Given the description of an element on the screen output the (x, y) to click on. 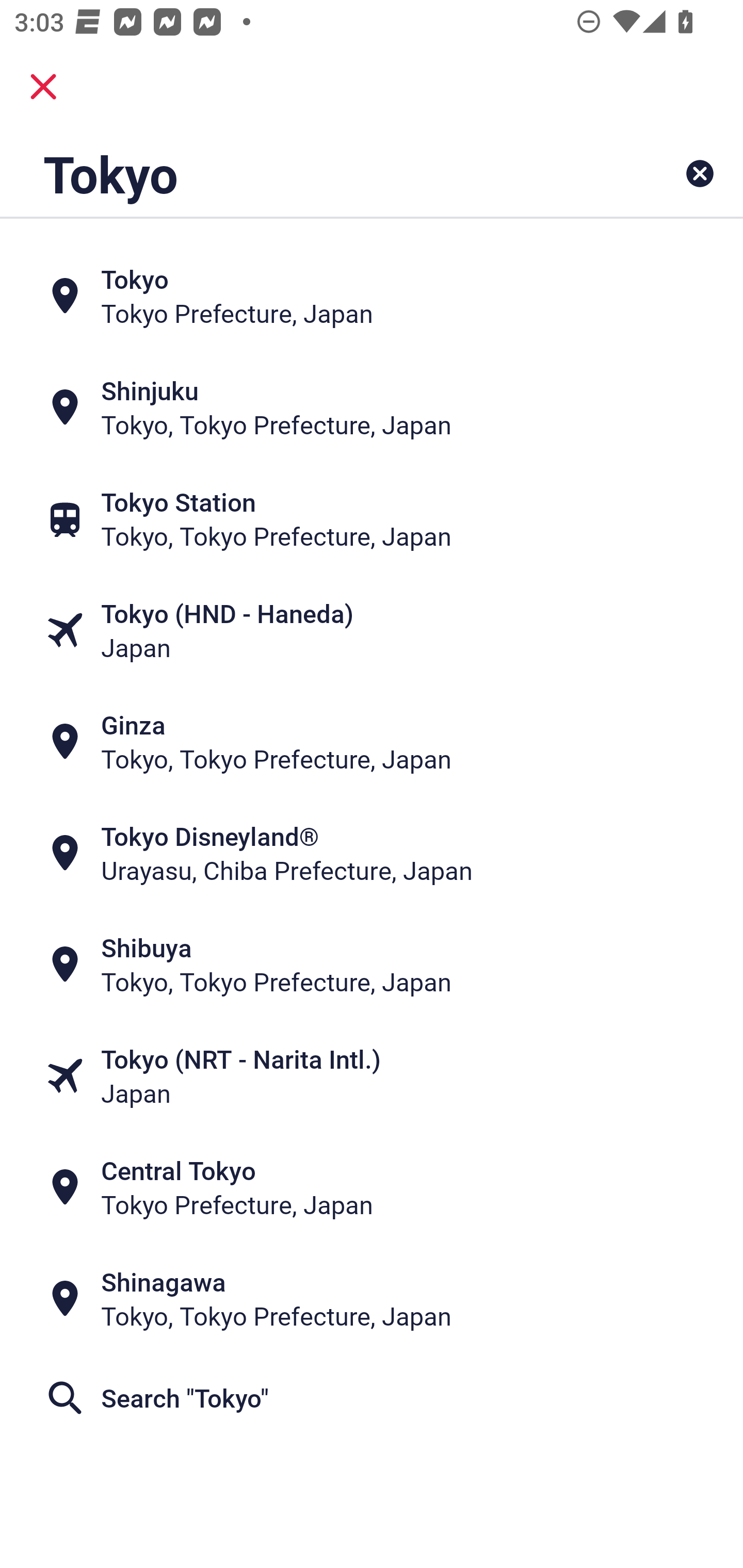
close. (43, 86)
Clear (699, 173)
Tokyo (306, 173)
Tokyo Tokyo Prefecture, Japan (371, 295)
Shinjuku Tokyo, Tokyo Prefecture, Japan (371, 406)
Tokyo Station Tokyo, Tokyo Prefecture, Japan (371, 517)
Tokyo (HND - Haneda) Japan (371, 629)
Ginza Tokyo, Tokyo Prefecture, Japan (371, 742)
Tokyo Disneyland® Urayasu, Chiba Prefecture, Japan (371, 853)
Shibuya Tokyo, Tokyo Prefecture, Japan (371, 964)
Tokyo (NRT - Narita Intl.) Japan (371, 1076)
Central Tokyo Tokyo Prefecture, Japan (371, 1187)
Shinagawa Tokyo, Tokyo Prefecture, Japan (371, 1298)
Search "Tokyo" (371, 1397)
